Given the description of an element on the screen output the (x, y) to click on. 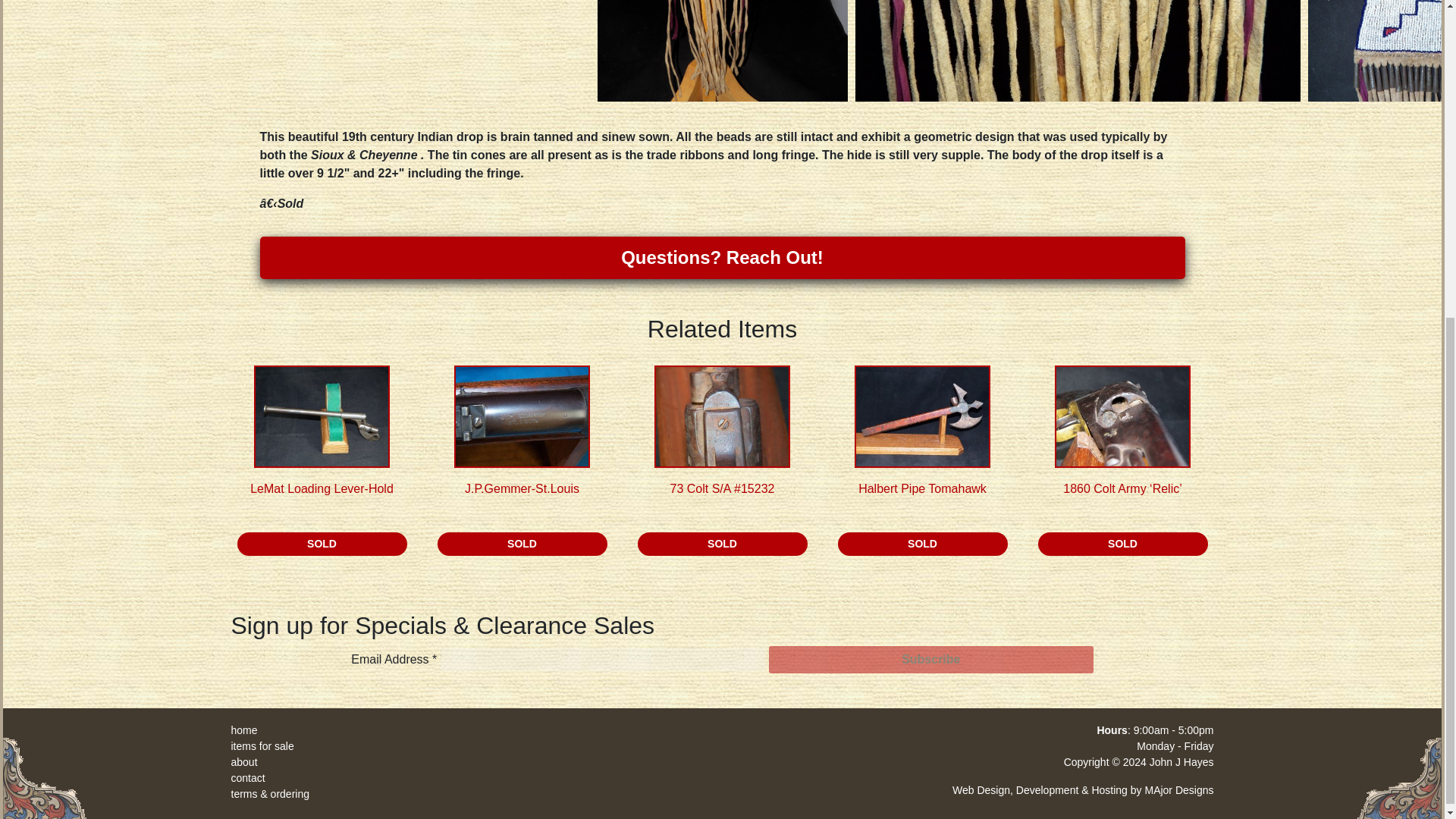
items for sale (262, 746)
contact (247, 777)
about (243, 761)
MAjor Designs (1178, 789)
Subscribe (930, 659)
Subscribe (930, 659)
home (243, 729)
